Given the description of an element on the screen output the (x, y) to click on. 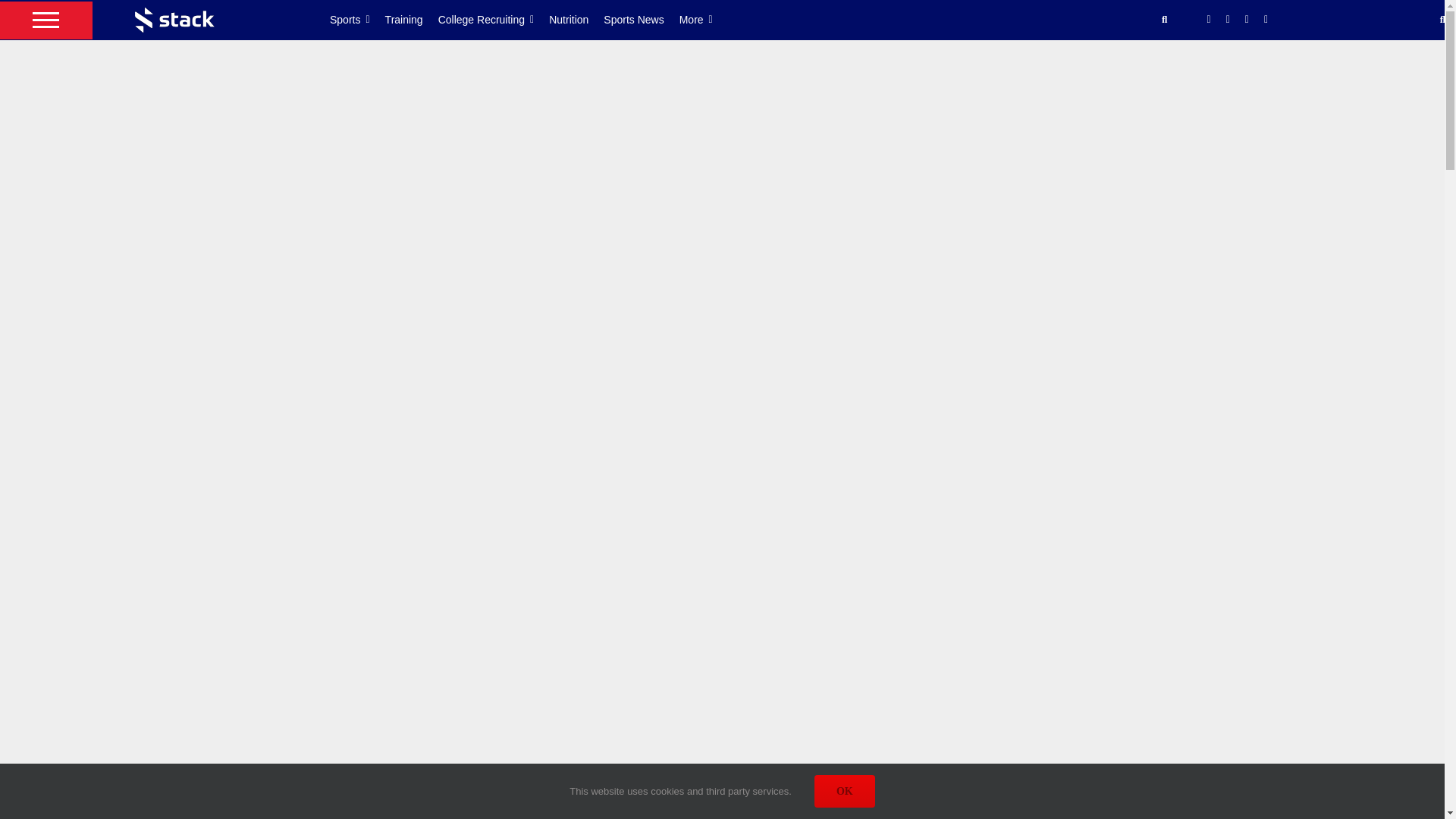
Nutrition (576, 19)
Sports News (641, 19)
College Recruiting (494, 19)
Training (411, 19)
More (703, 19)
Sports (357, 19)
